Given the description of an element on the screen output the (x, y) to click on. 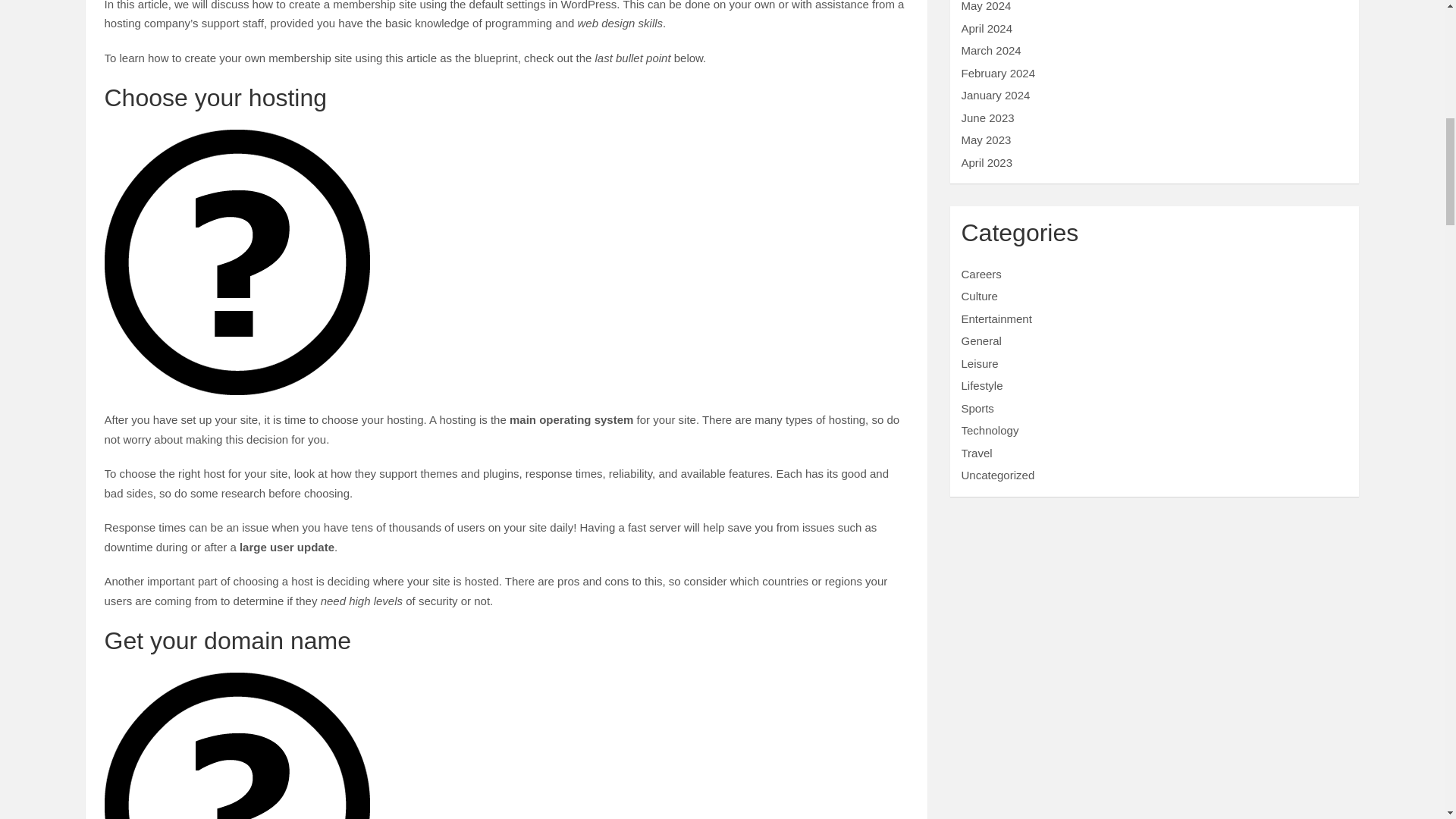
January 2024 (995, 94)
March 2024 (991, 50)
February 2024 (997, 72)
April 2024 (986, 28)
June 2023 (987, 117)
May 2024 (985, 6)
